Given the description of an element on the screen output the (x, y) to click on. 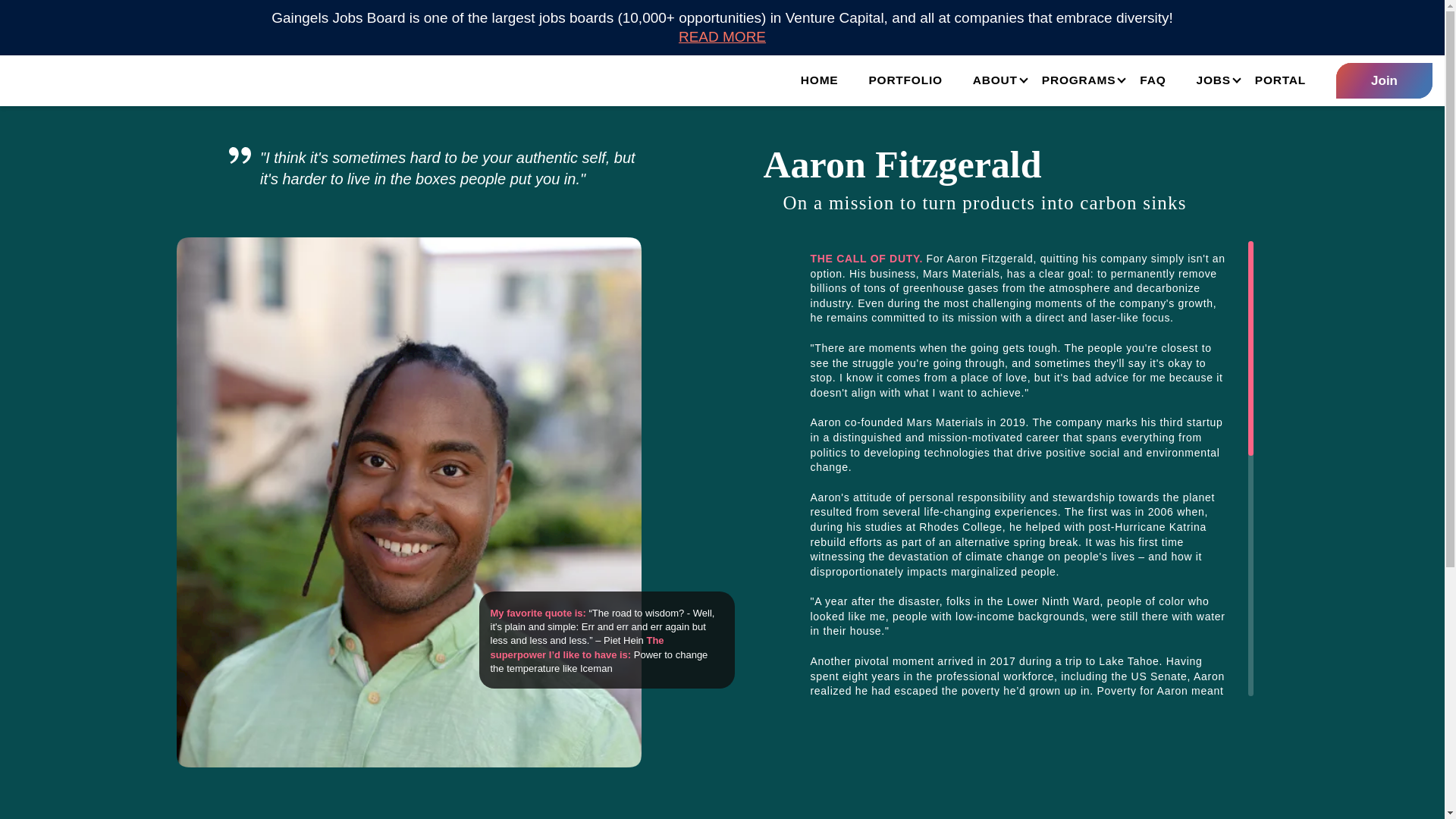
PORTAL (1280, 79)
HOME (819, 79)
PORTFOLIO (904, 79)
Join (1384, 80)
FAQ (1153, 79)
READ MORE (721, 36)
